Given the description of an element on the screen output the (x, y) to click on. 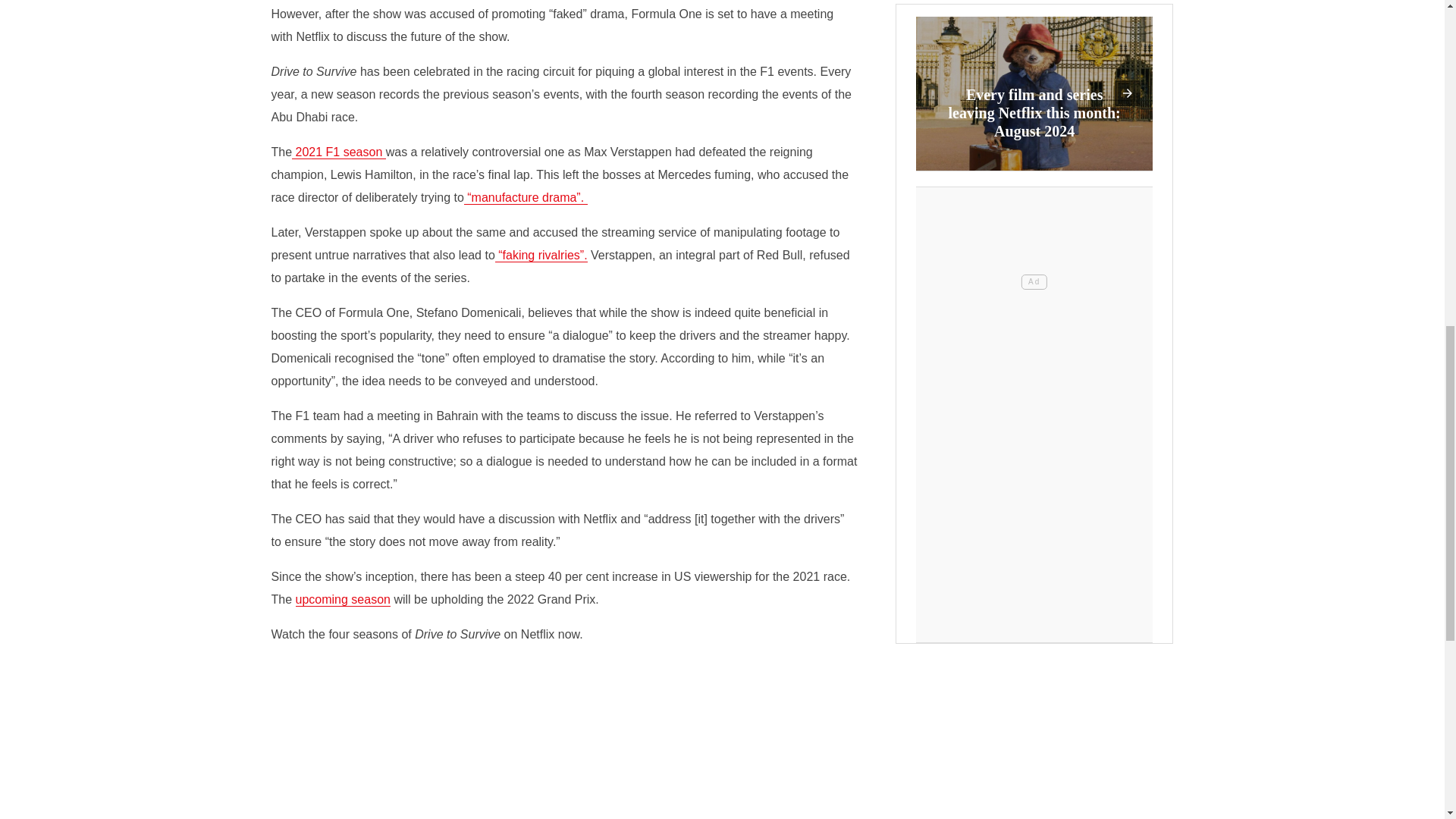
upcoming season (342, 599)
 2021 F1 season  (338, 151)
